Given the description of an element on the screen output the (x, y) to click on. 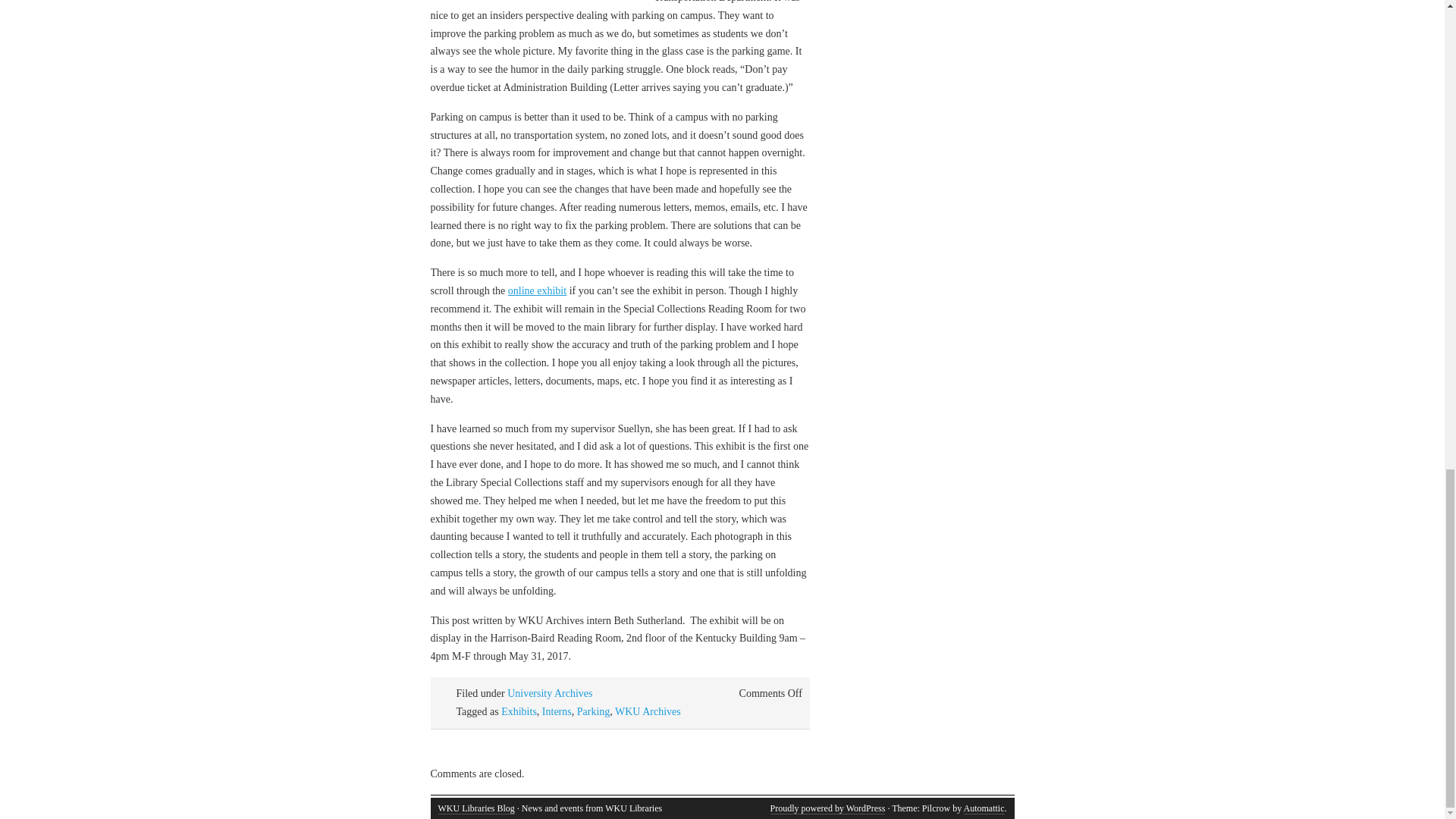
A Semantic Personal Publishing Platform (827, 808)
Exhibits (518, 711)
WKU Archives (647, 711)
Interns (556, 711)
online exhibit (537, 290)
University Archives (549, 693)
Parking (593, 711)
WKU Libraries Blog (476, 808)
